Given the description of an element on the screen output the (x, y) to click on. 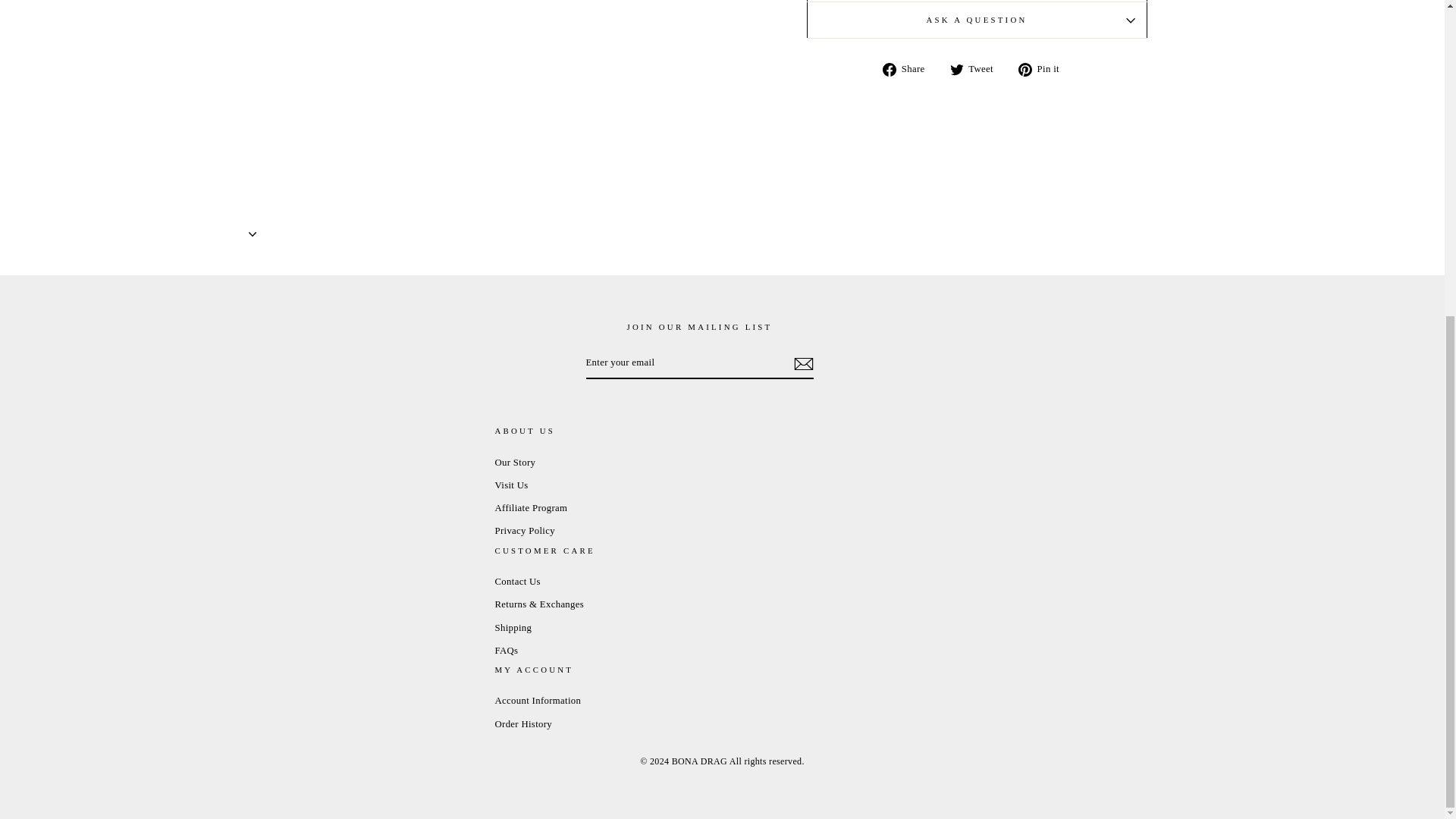
Share on Facebook (909, 68)
Pin on Pinterest (1043, 68)
Tweet on Twitter (977, 68)
